Given the description of an element on the screen output the (x, y) to click on. 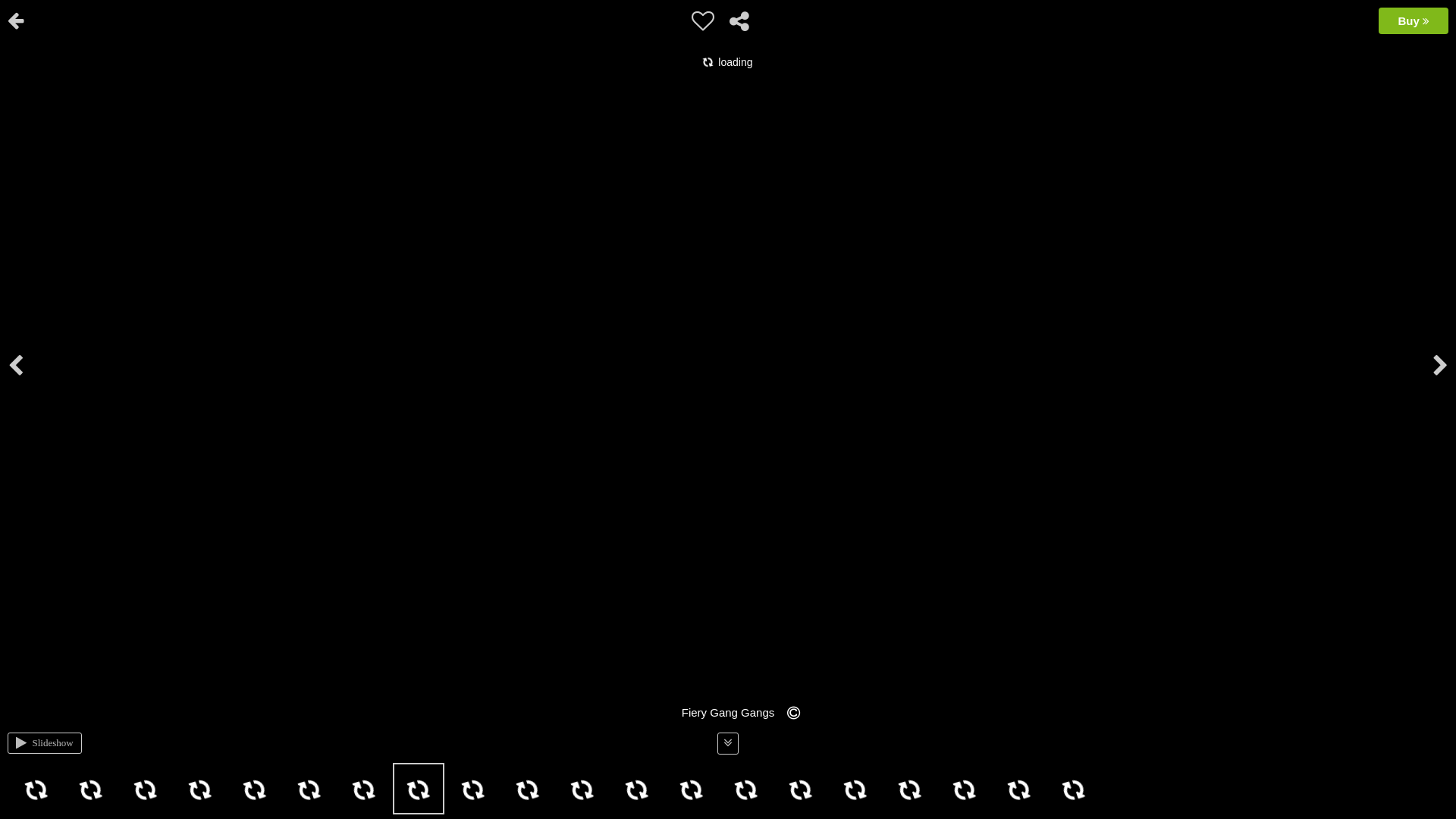
Hide Element type: text (1431, 11)
